Given the description of an element on the screen output the (x, y) to click on. 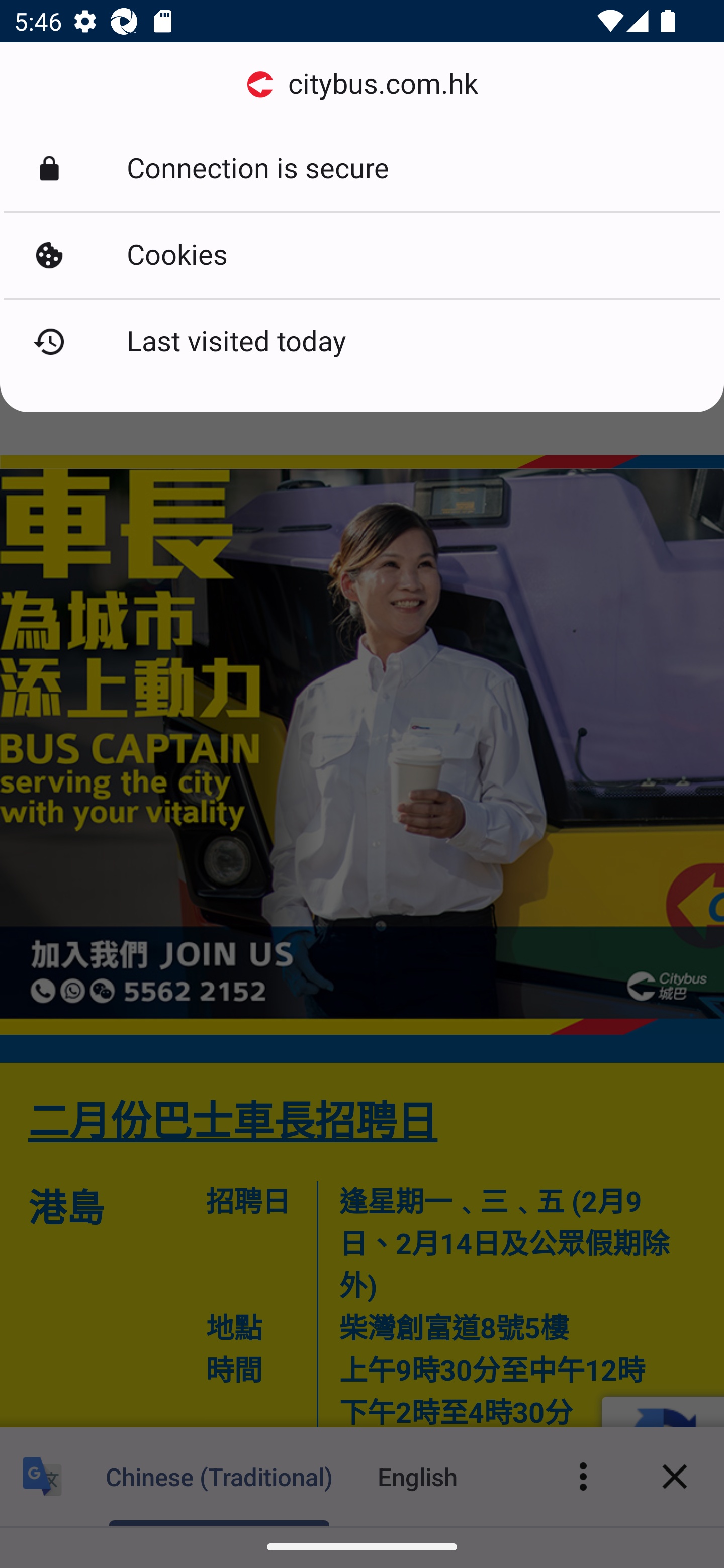
citybus.com.hk (362, 84)
Connection is secure (362, 169)
Cookies (362, 255)
Last visited today (362, 341)
